Given the description of an element on the screen output the (x, y) to click on. 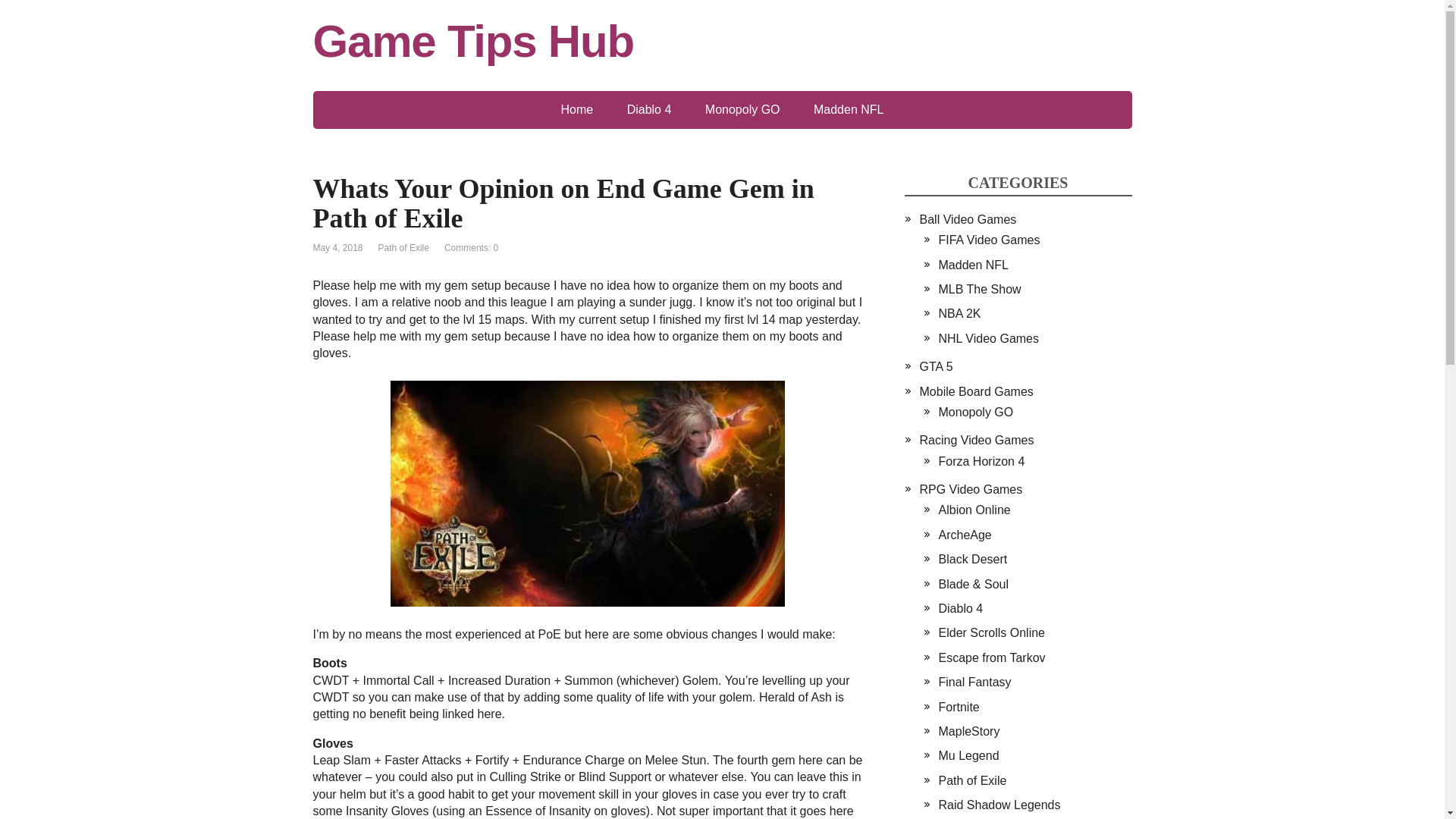
Racing Video Games (975, 440)
Home (577, 109)
Albion Online (974, 509)
Mobile Board Games (975, 391)
MLB The Show (980, 288)
Black Desert (973, 558)
Ball Video Games (967, 219)
MapleStory (969, 730)
Fortnite (959, 707)
Final Fantasy (975, 681)
